Given the description of an element on the screen output the (x, y) to click on. 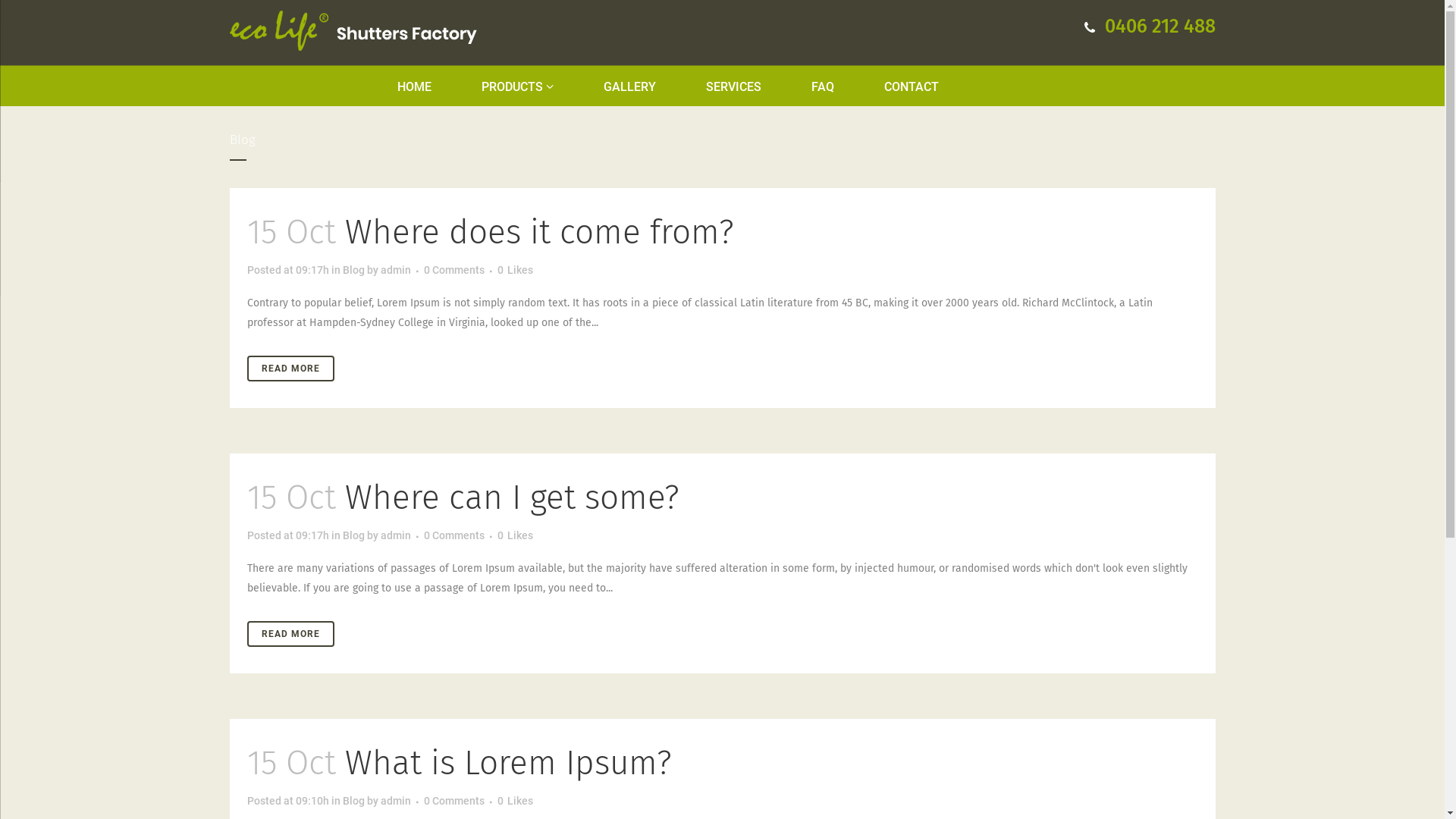
READ MORE Element type: text (290, 633)
Where does it come from? Element type: text (538, 232)
What is Lorem Ipsum? Element type: text (507, 763)
Blog Element type: text (353, 269)
0 Likes Element type: text (515, 269)
admin Element type: text (395, 269)
0 Comments Element type: text (453, 800)
0 Likes Element type: text (515, 535)
0 Comments Element type: text (453, 269)
PRODUCTS Element type: text (517, 86)
FAQ Element type: text (822, 86)
0 Comments Element type: text (453, 535)
Blog Element type: text (353, 800)
Where can I get some? Element type: text (511, 497)
CONTACT Element type: text (911, 86)
SERVICES Element type: text (733, 86)
GALLERY Element type: text (629, 86)
READ MORE Element type: text (290, 368)
admin Element type: text (395, 535)
admin Element type: text (395, 800)
HOME Element type: text (426, 86)
0 Likes Element type: text (515, 800)
0406 212 488 Element type: text (1147, 26)
Blog Element type: text (353, 535)
